Given the description of an element on the screen output the (x, y) to click on. 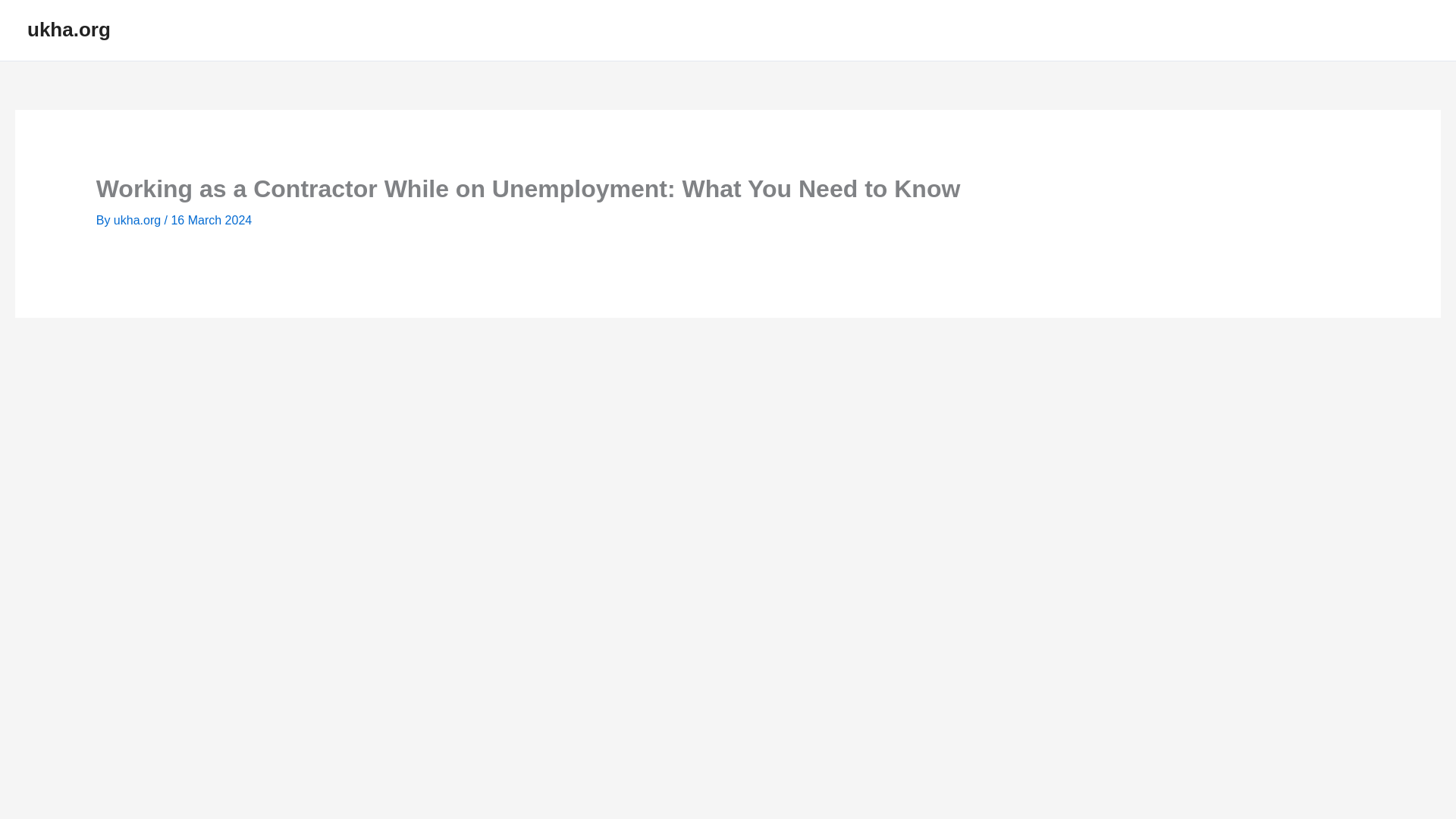
ukha.org (68, 29)
ukha.org (138, 219)
View all posts by ukha.org (138, 219)
